Given the description of an element on the screen output the (x, y) to click on. 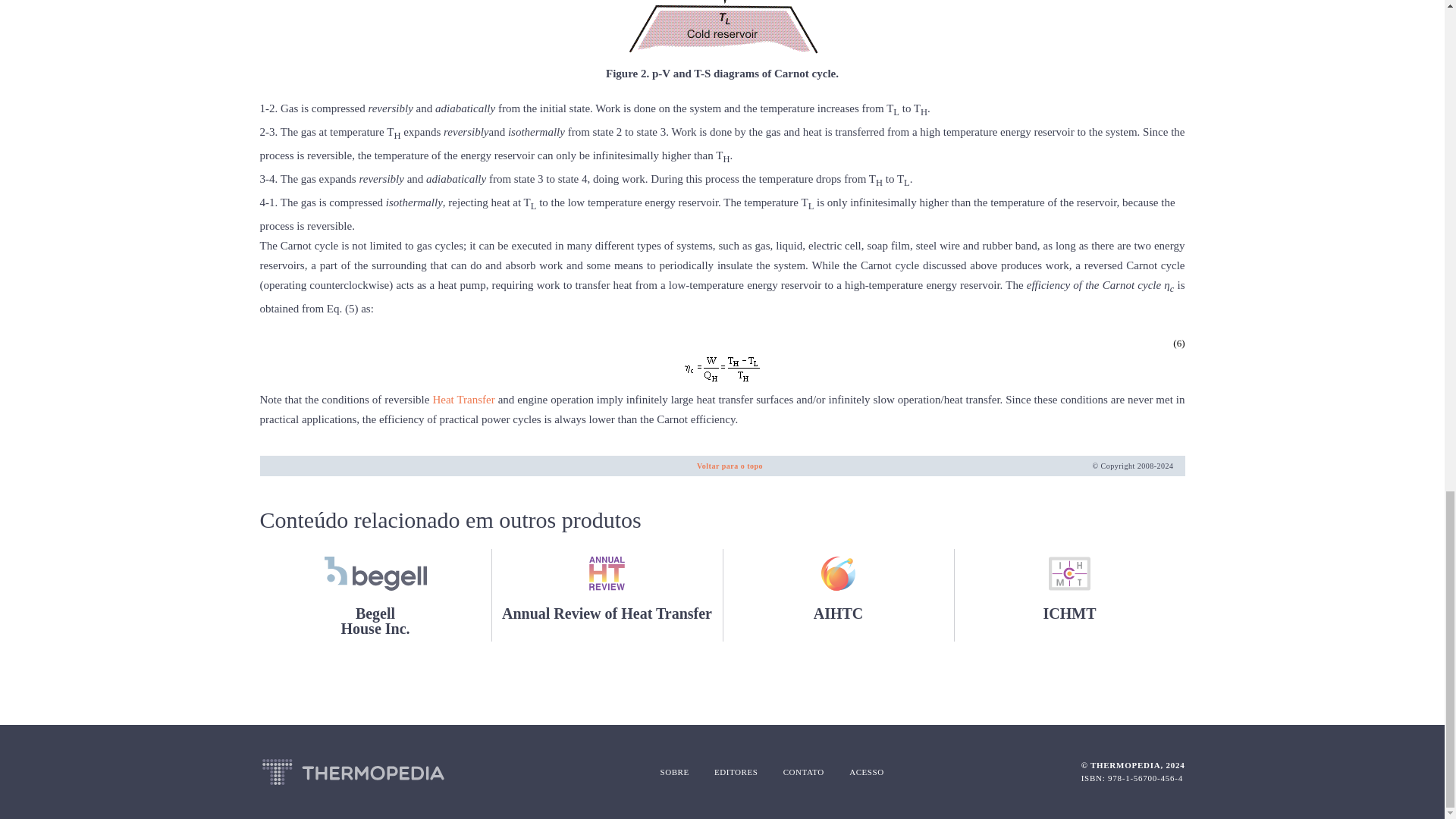
Voltar para o topo (729, 465)
HEAT TRANSFER (463, 399)
Voltar para o topo (729, 465)
Annual Review of Heat Transfer (607, 594)
Heat Transfer (463, 399)
ICHMT (1069, 594)
AIHTC (374, 594)
